Given the description of an element on the screen output the (x, y) to click on. 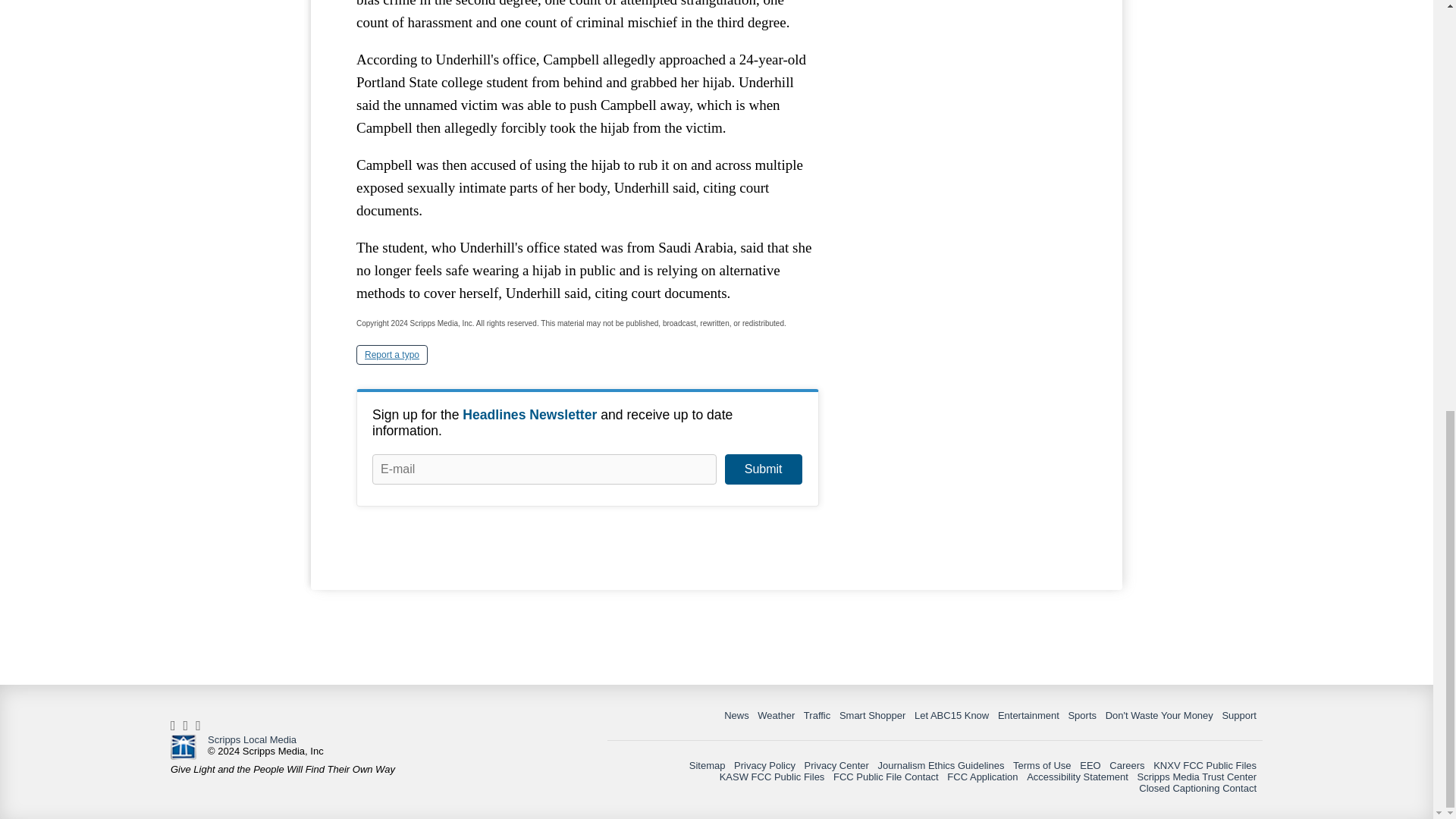
Submit (763, 469)
